Given the description of an element on the screen output the (x, y) to click on. 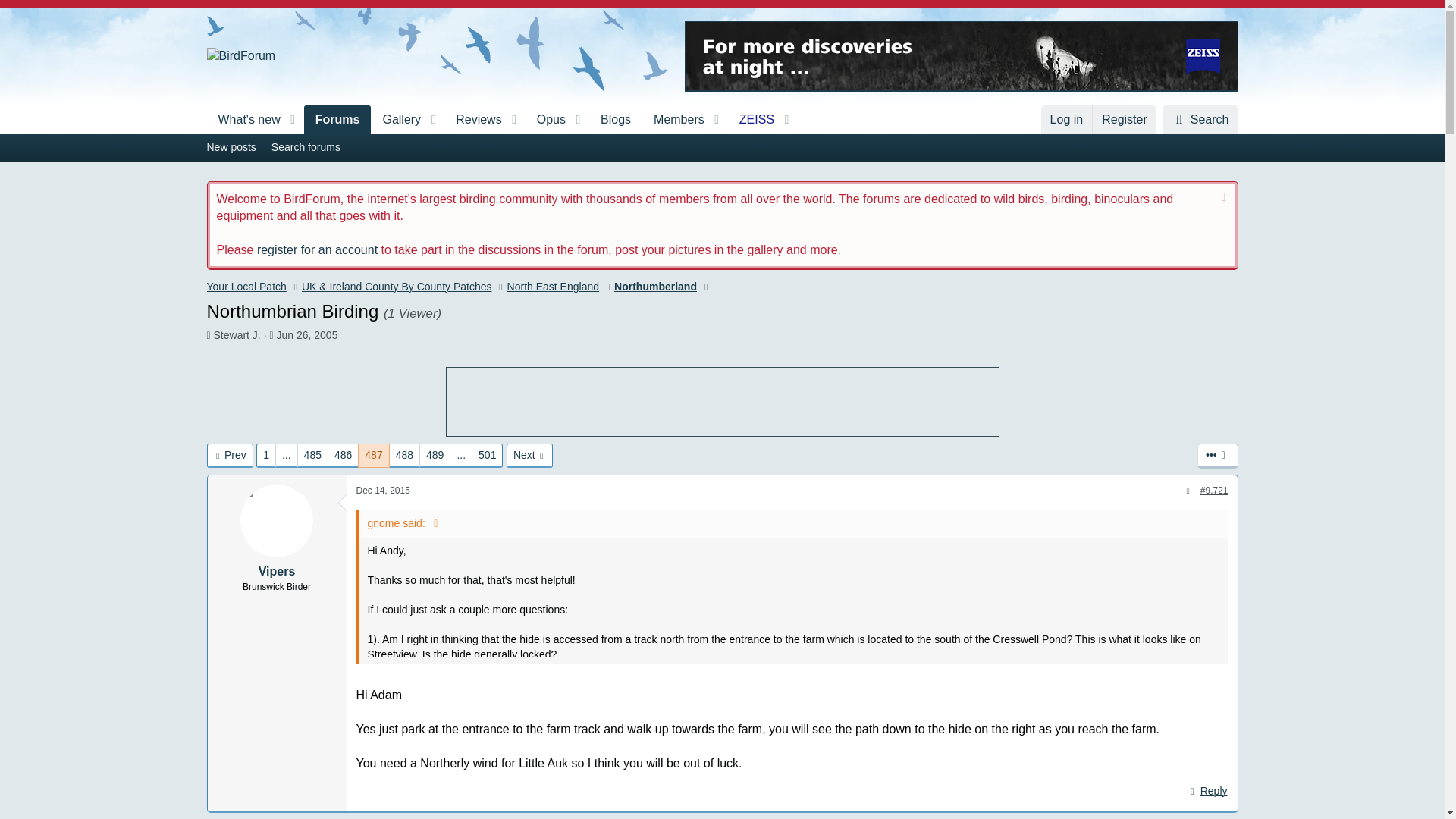
Go to page (286, 455)
Members (674, 119)
Go to page (721, 147)
Gallery (460, 455)
Search (396, 119)
What's new (1200, 119)
Blogs (243, 119)
Forums (615, 119)
